Given the description of an element on the screen output the (x, y) to click on. 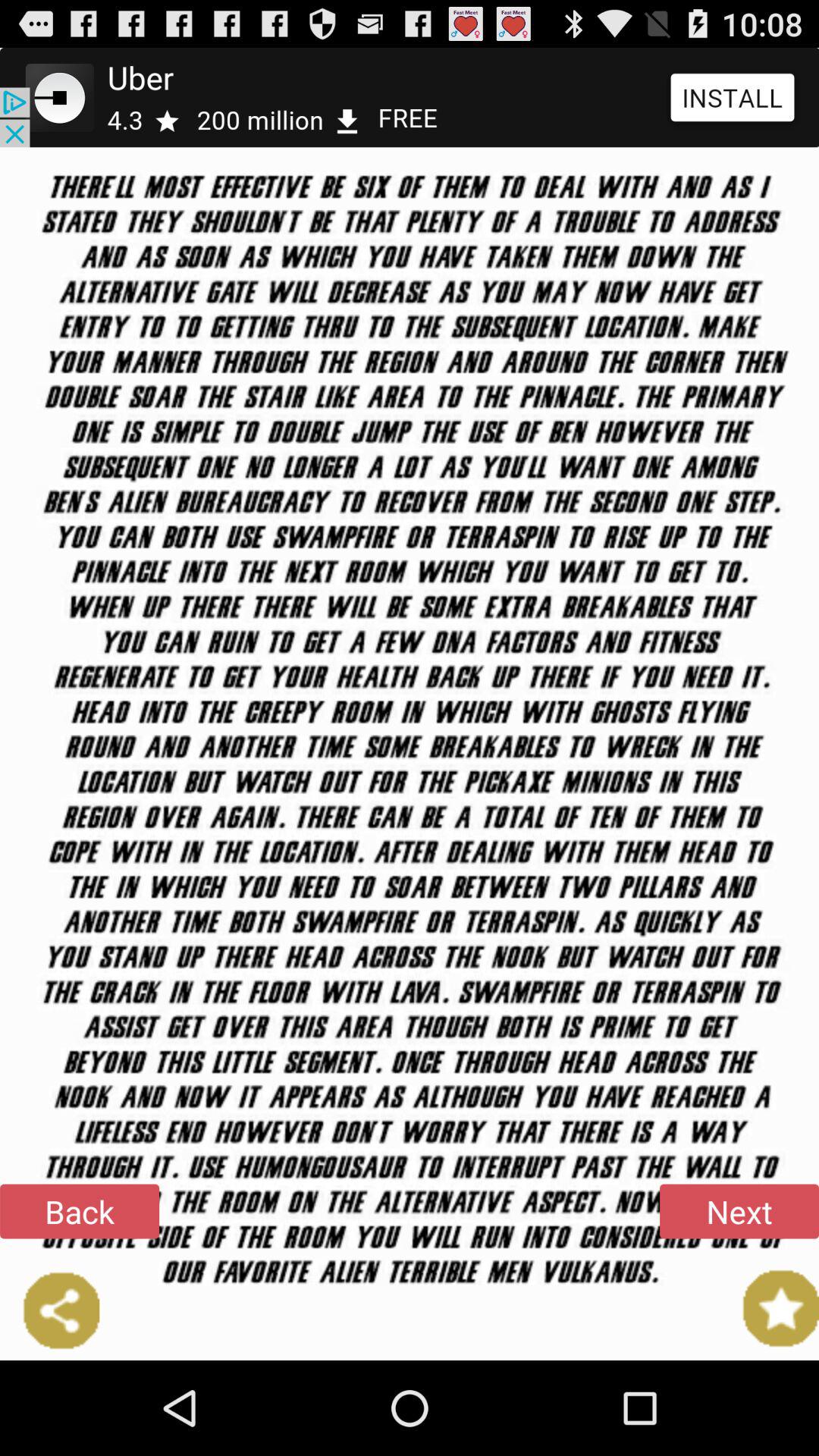
press button above the back (409, 97)
